Given the description of an element on the screen output the (x, y) to click on. 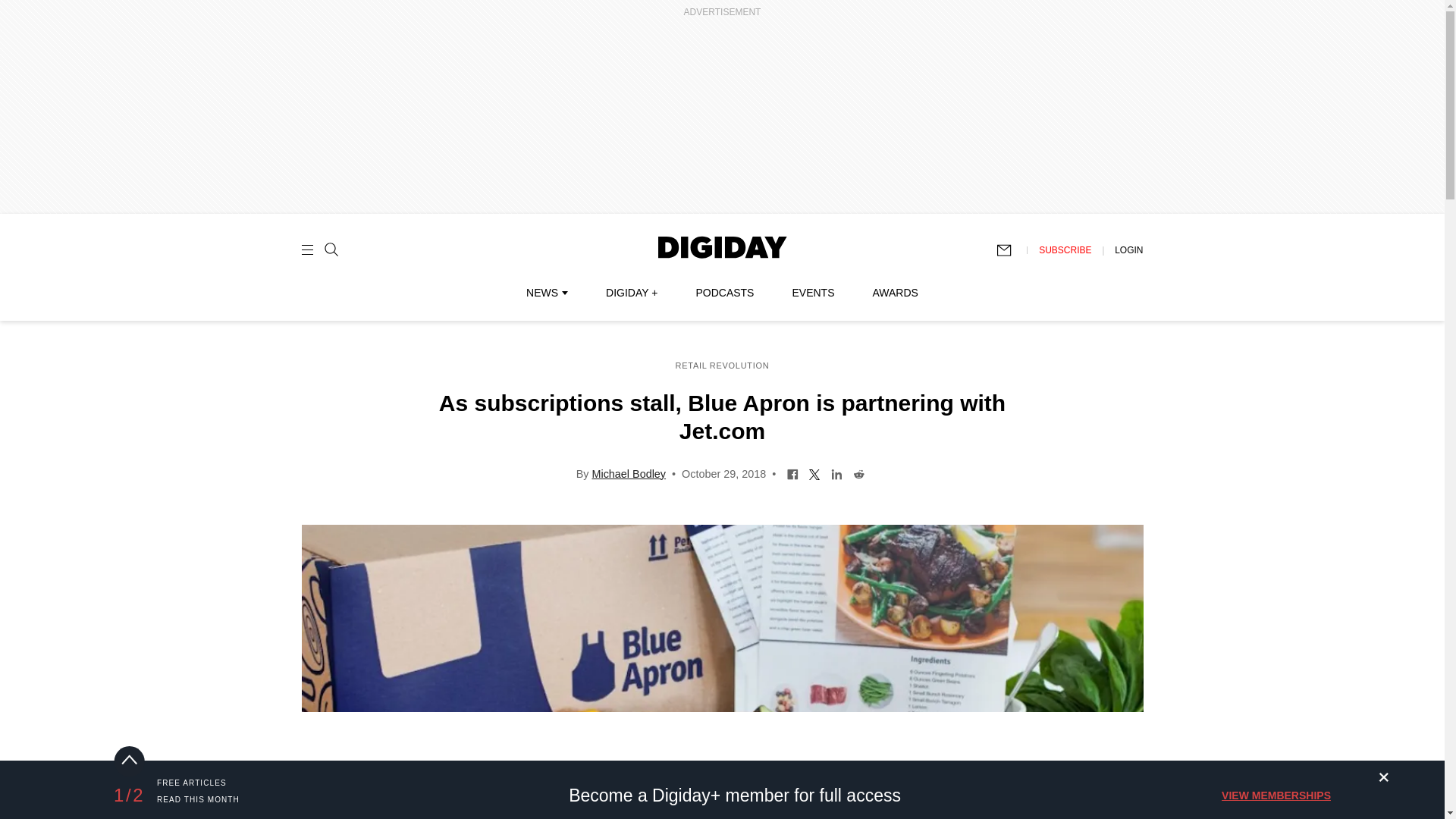
EVENTS (813, 292)
Subscribe (1010, 250)
Share on Facebook (792, 472)
AWARDS (894, 292)
SUBSCRIBE (1064, 249)
Share on Twitter (814, 472)
LOGIN (1128, 249)
Share on Reddit (857, 472)
PODCASTS (725, 292)
Share on LinkedIn (836, 472)
NEWS (546, 292)
